Given the description of an element on the screen output the (x, y) to click on. 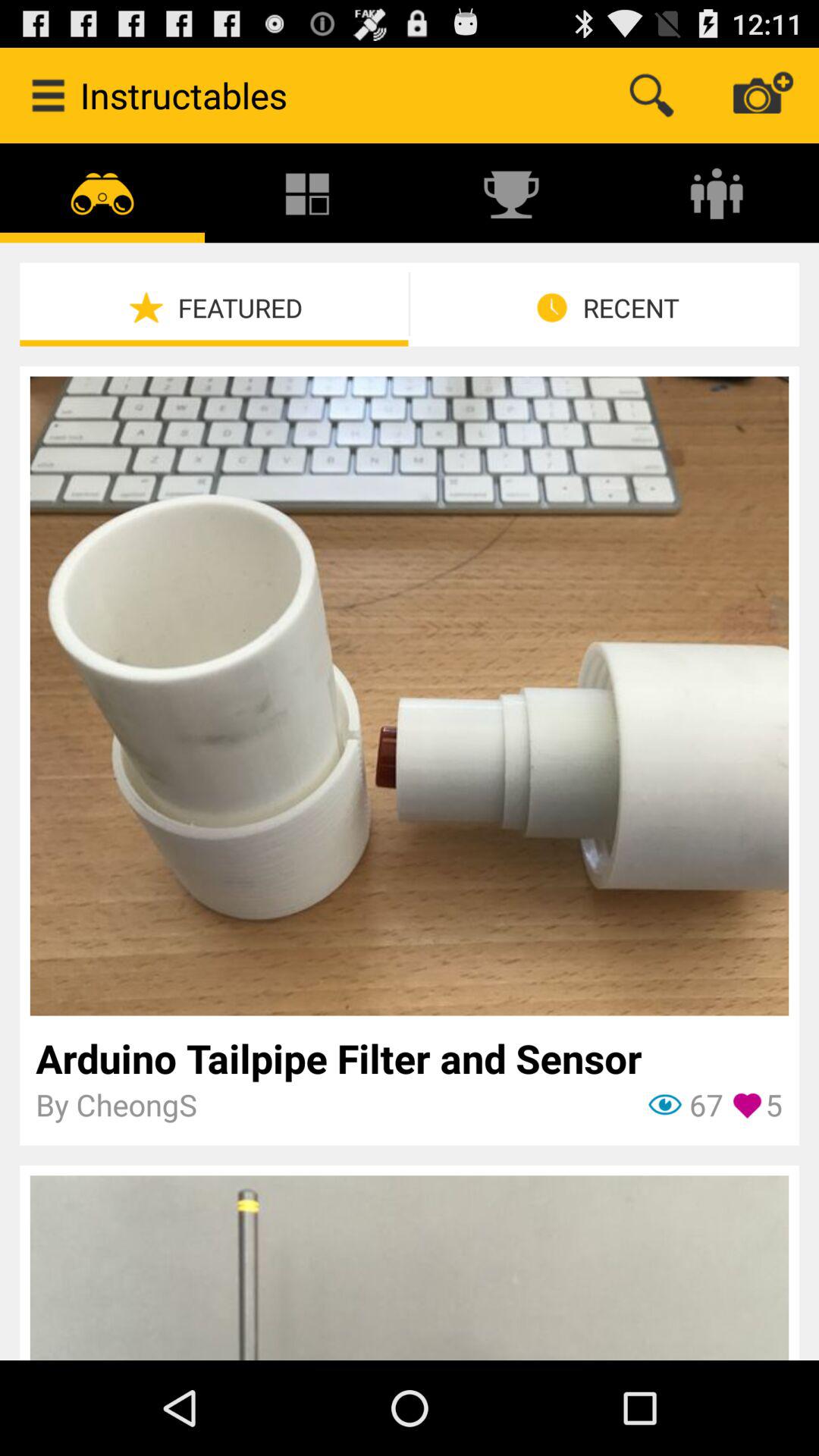
choose the icon above featured item (306, 192)
